Given the description of an element on the screen output the (x, y) to click on. 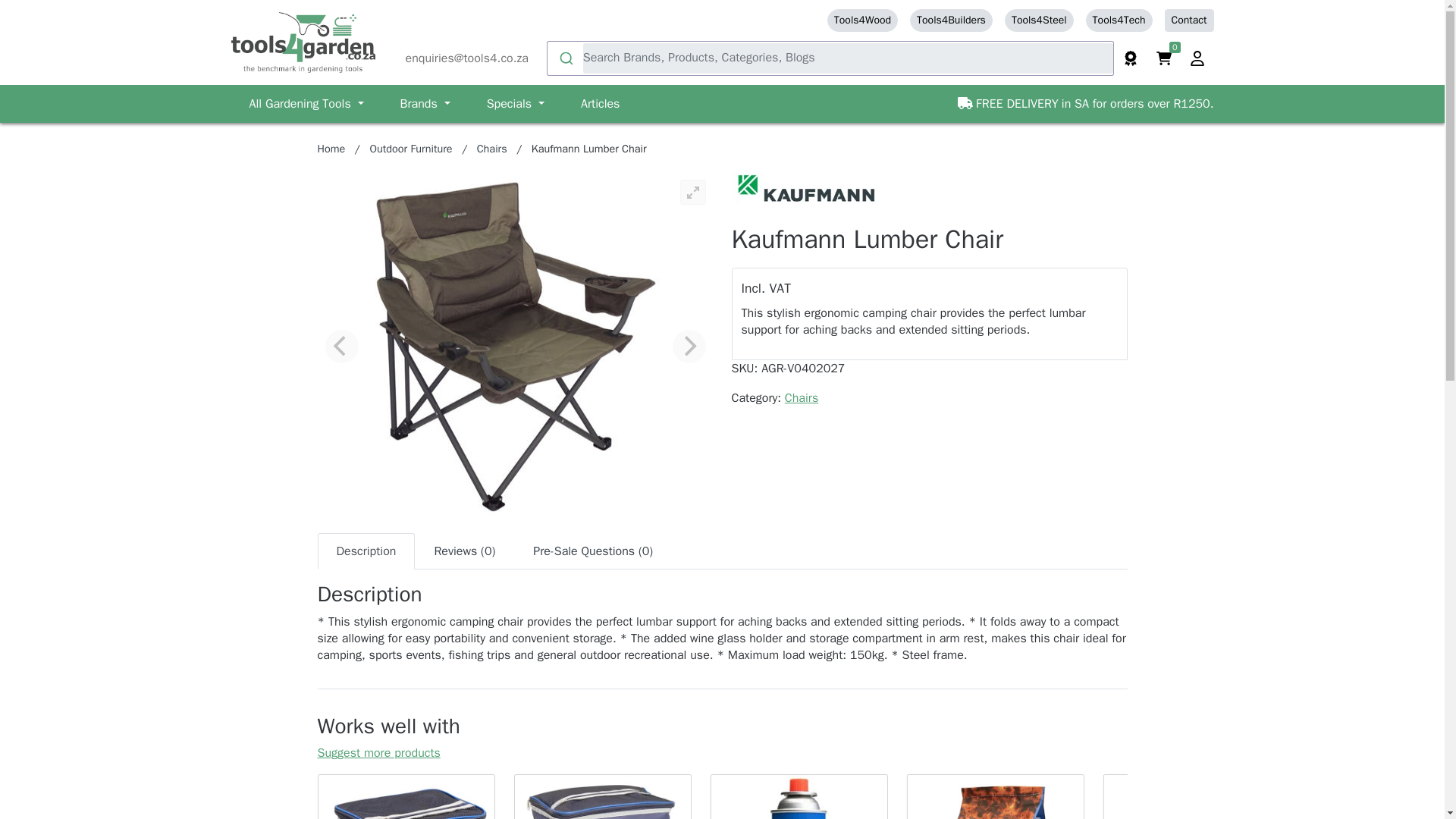
Tools4Wood (862, 20)
View full-screen (691, 191)
Tools4Builders (951, 20)
Tools4Steel (1039, 20)
Brands (424, 103)
Submit (565, 58)
0 (1163, 58)
What are Bench Marks? (1130, 58)
Contact (1189, 20)
Tools4Garden (302, 41)
Tools4Tech (1119, 20)
All Gardening Tools (305, 103)
